Given the description of an element on the screen output the (x, y) to click on. 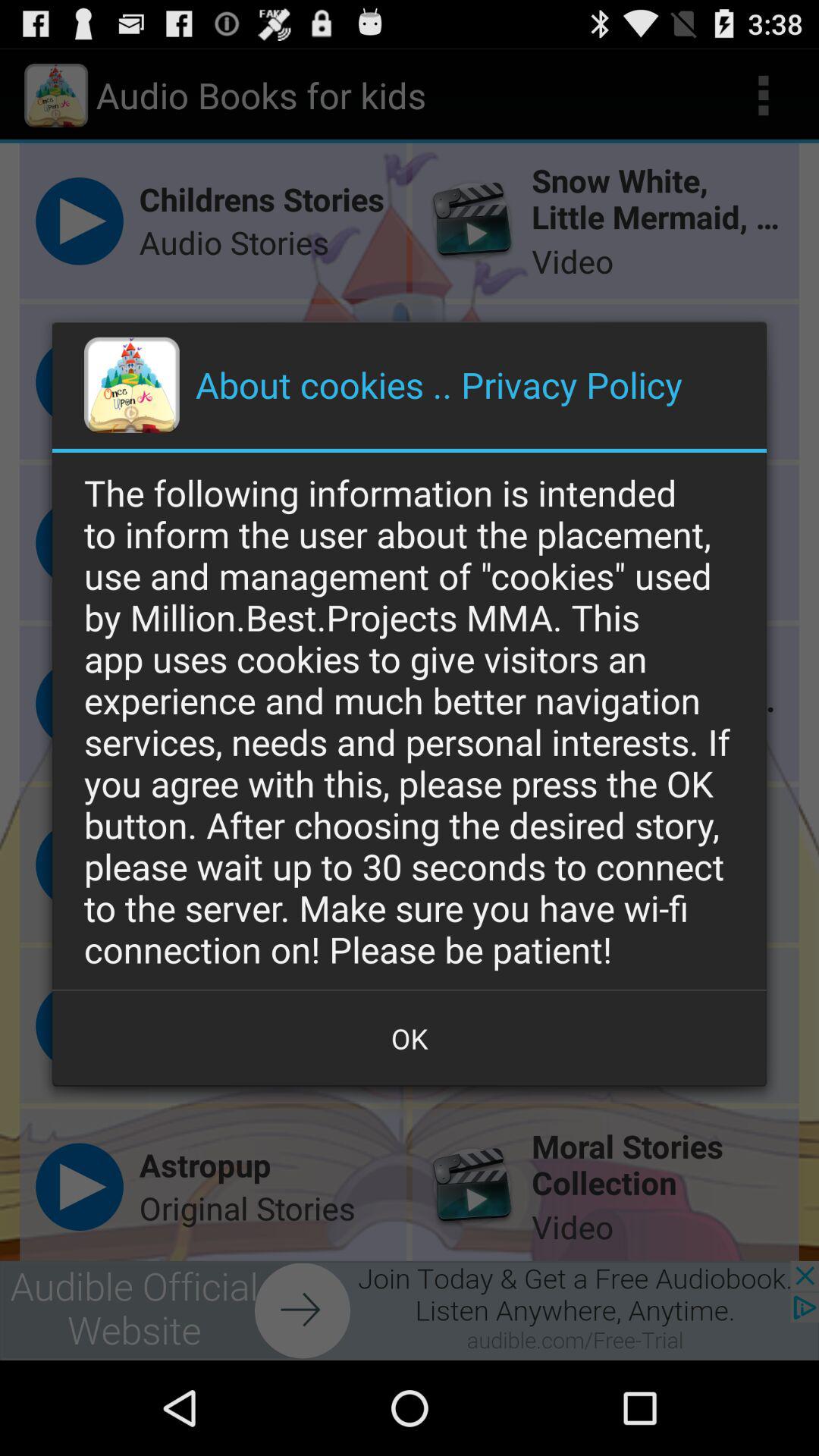
select the icon at the center (409, 720)
